Given the description of an element on the screen output the (x, y) to click on. 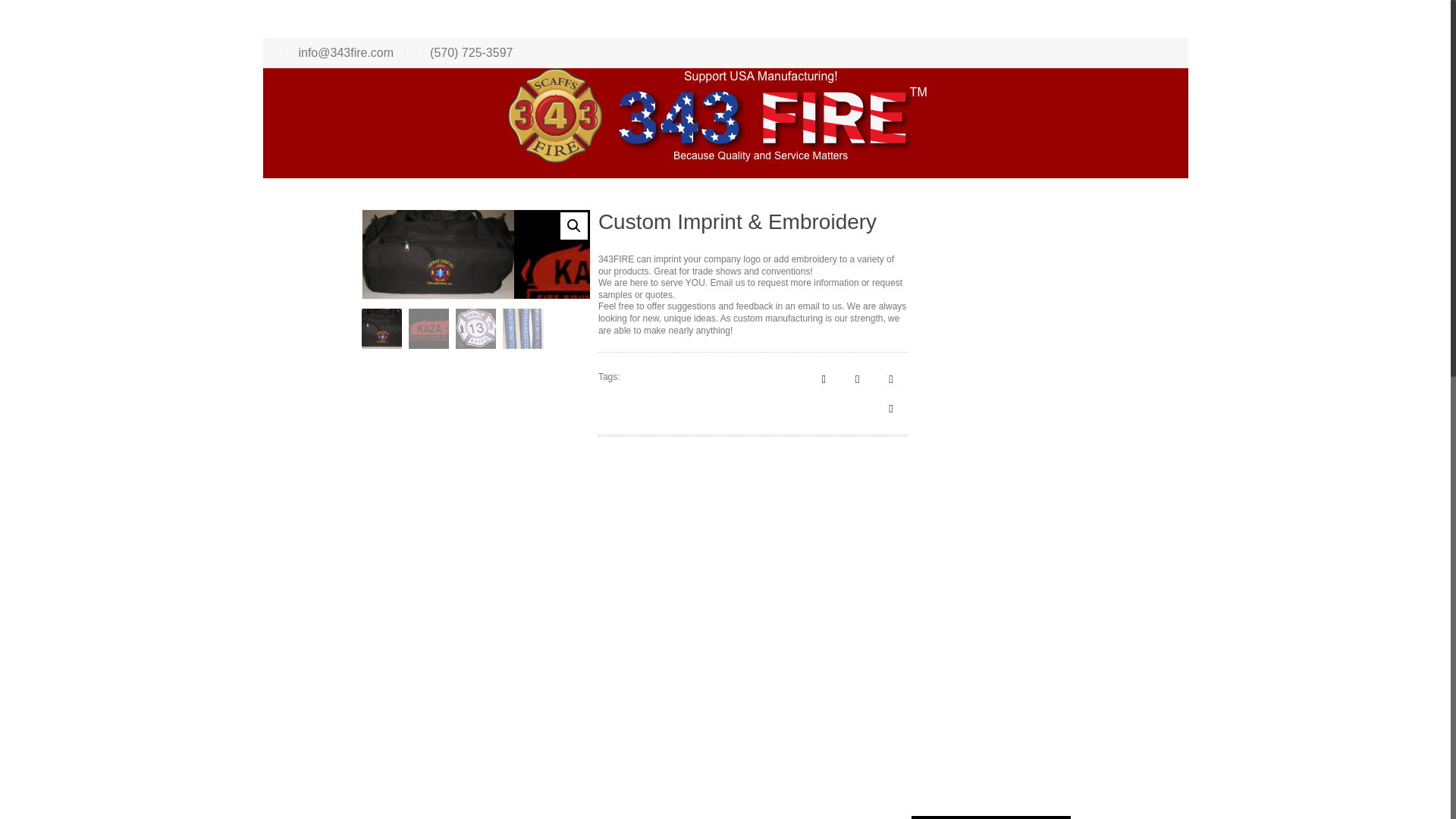
343Fire (718, 114)
KAZAImprint (589, 271)
Dewey-RollBag3 (437, 253)
